Given the description of an element on the screen output the (x, y) to click on. 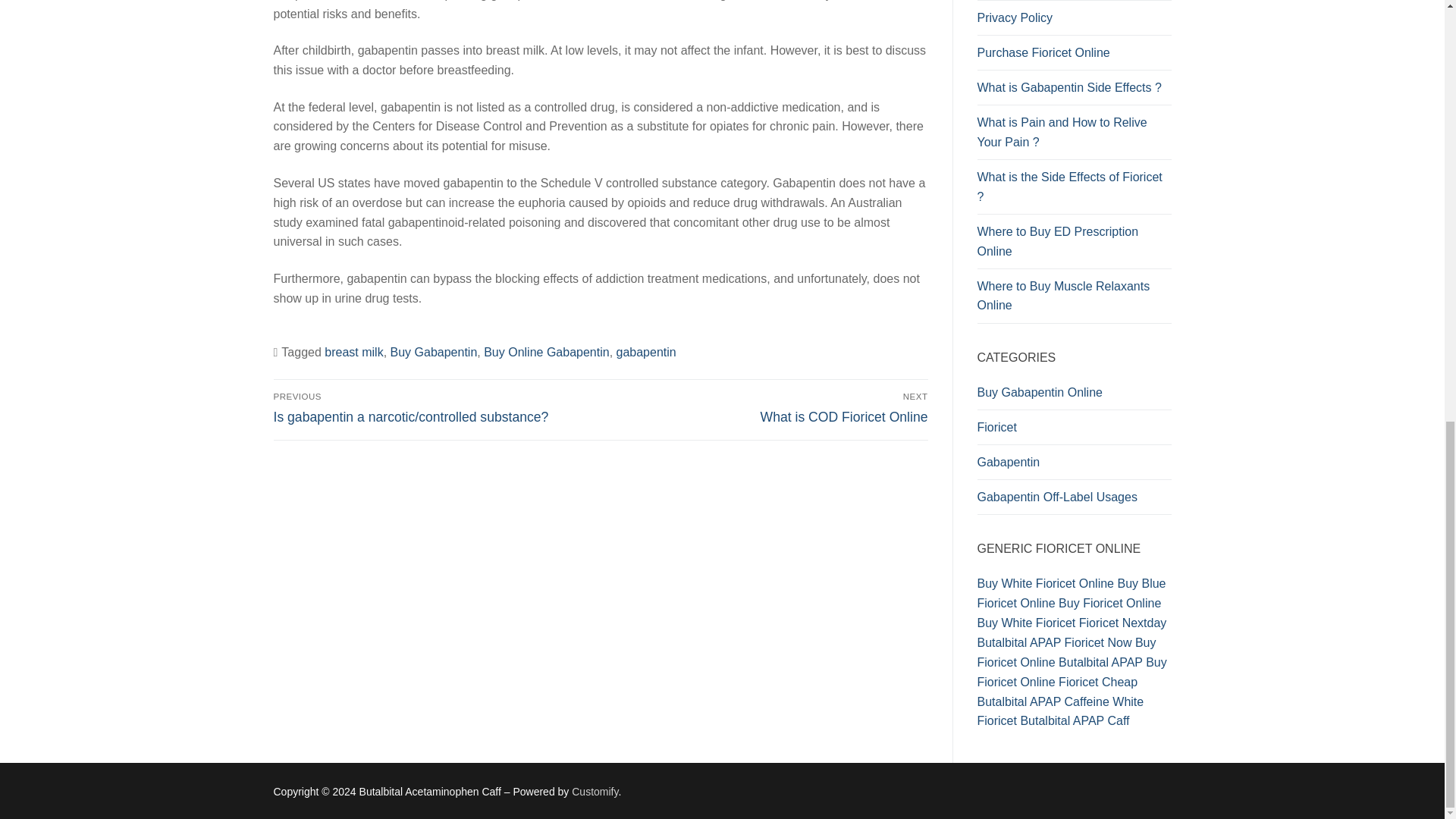
Buy Gabapentin (433, 351)
Buy Online Gabapentin (545, 351)
breast milk (353, 351)
